Given the description of an element on the screen output the (x, y) to click on. 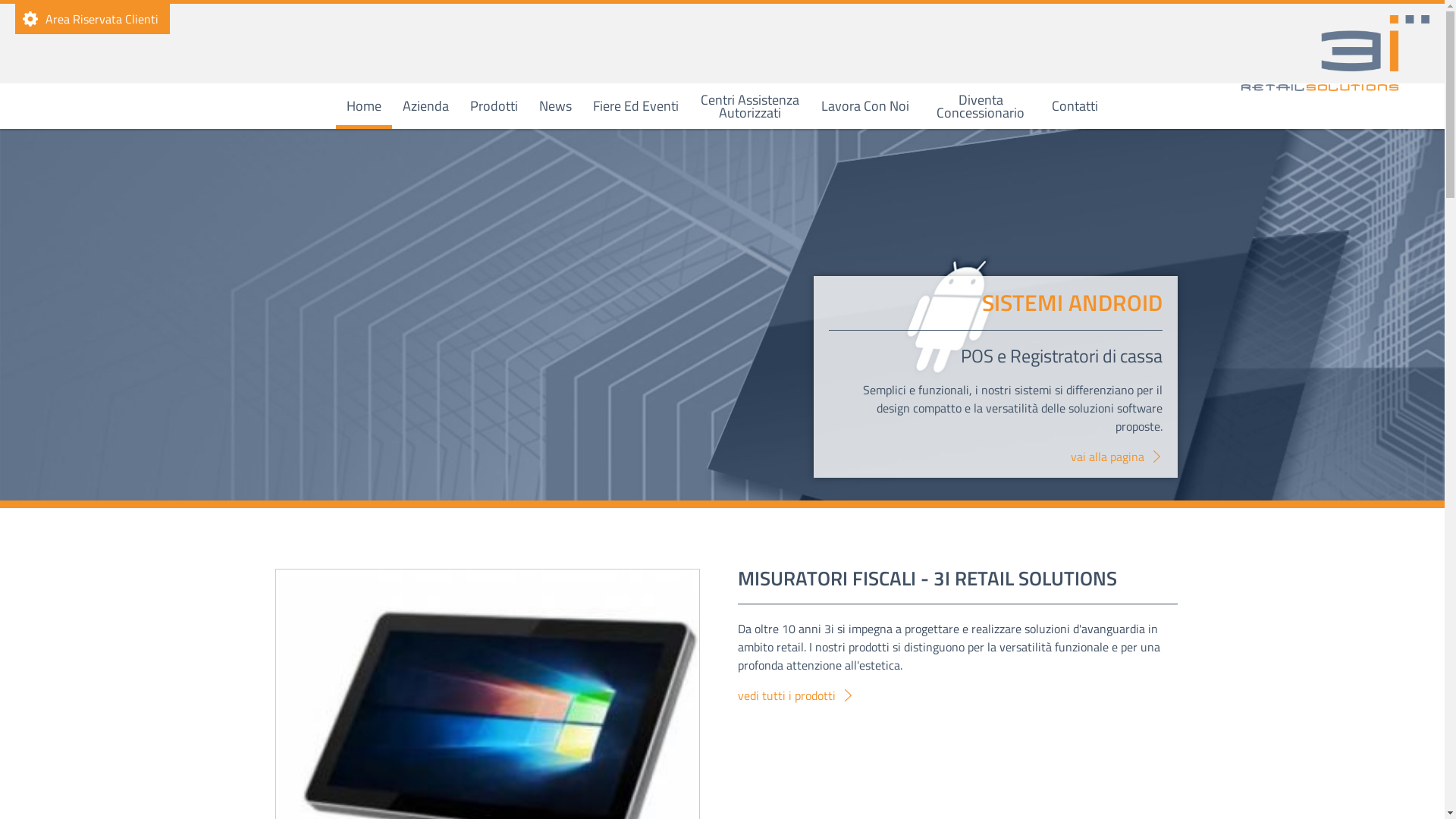
Area Riservata Clienti Element type: text (92, 18)
Contatti Element type: text (1074, 105)
Centri Assistenza Autorizzati Element type: text (749, 105)
Prodotti Element type: text (493, 105)
vedi tutti i prodotti Element type: text (795, 695)
News Element type: text (555, 105)
Home Element type: text (363, 105)
vai alla pagina Element type: text (1116, 456)
3i - Retail Solutions Element type: hover (1335, 52)
Azienda Element type: text (425, 105)
Lavora Con Noi Element type: text (864, 105)
Fiere Ed Eventi Element type: text (635, 105)
Diventa Concessionario Element type: text (980, 105)
